Given the description of an element on the screen output the (x, y) to click on. 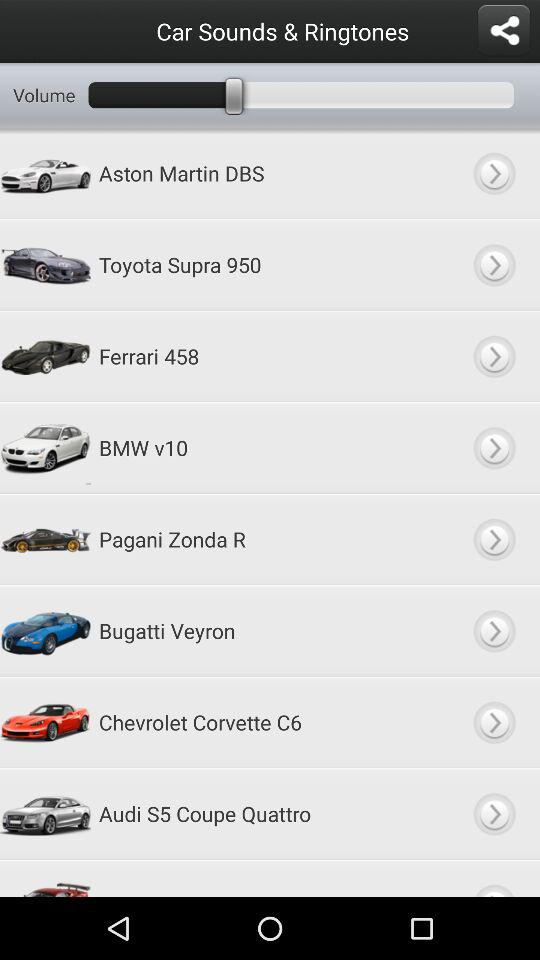
go next option (494, 356)
